Given the description of an element on the screen output the (x, y) to click on. 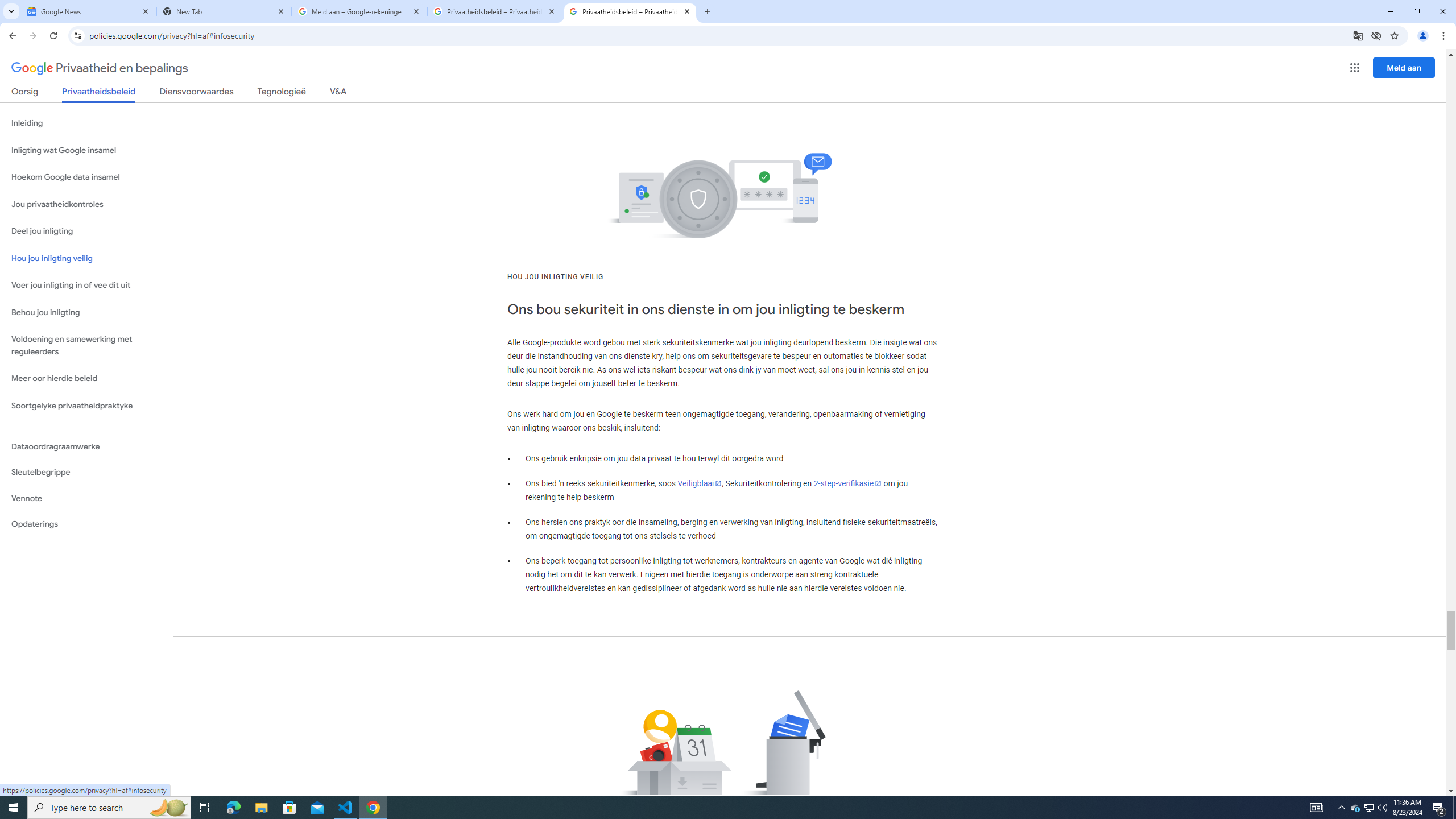
V&A (337, 93)
Deel jou inligting (86, 230)
Google-programme (1355, 67)
Inligting wat Google insamel (86, 150)
Opdaterings (86, 524)
